Given the description of an element on the screen output the (x, y) to click on. 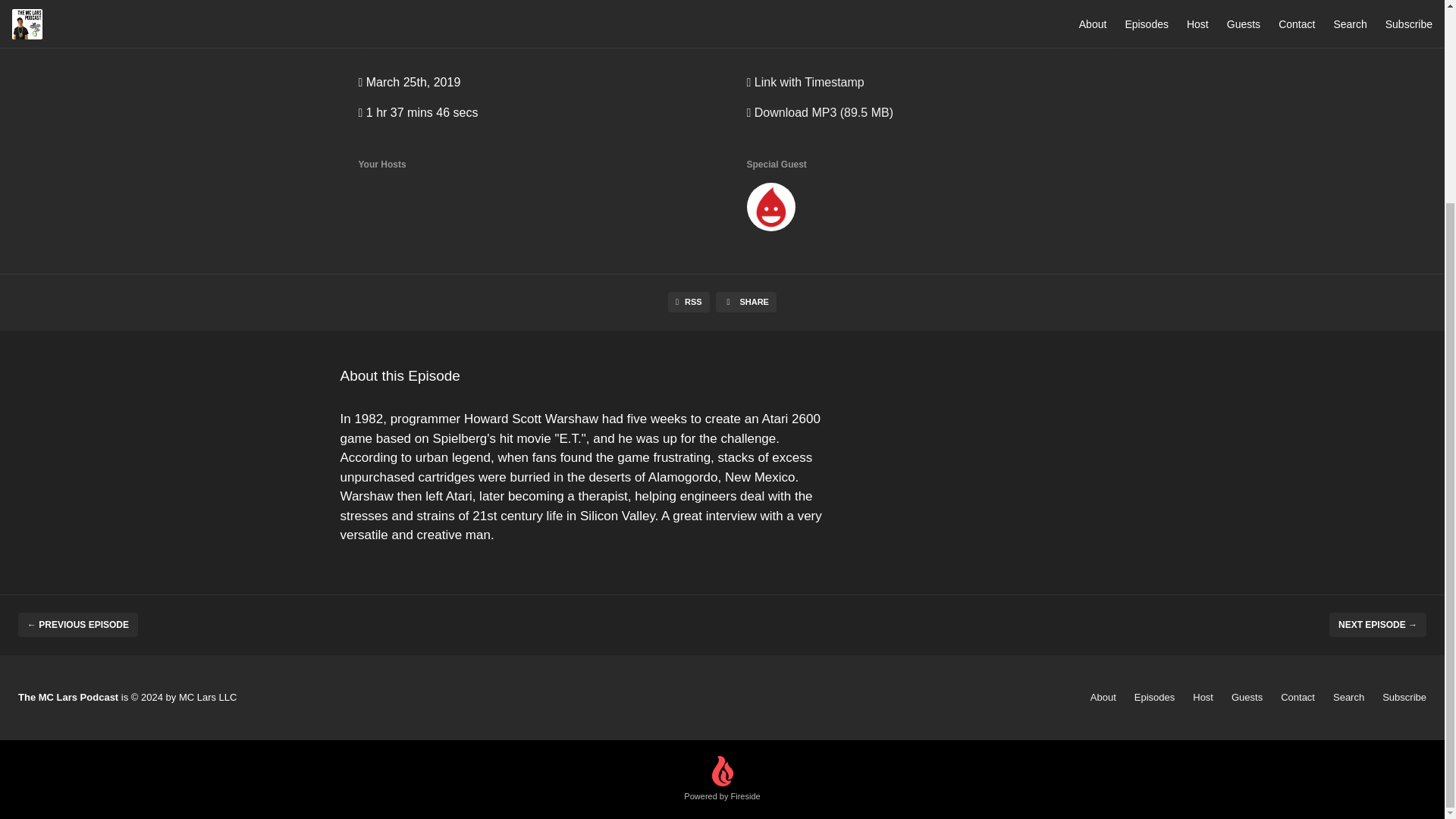
SHARE (542, 0)
SHARE (746, 301)
1.0x (793, 23)
Powered by Fireside (722, 779)
Link with Timestamp (804, 82)
Powered by Fireside (722, 779)
Search (1348, 696)
Guests (1246, 696)
Subscribe (1403, 696)
Episodes (1154, 696)
